Given the description of an element on the screen output the (x, y) to click on. 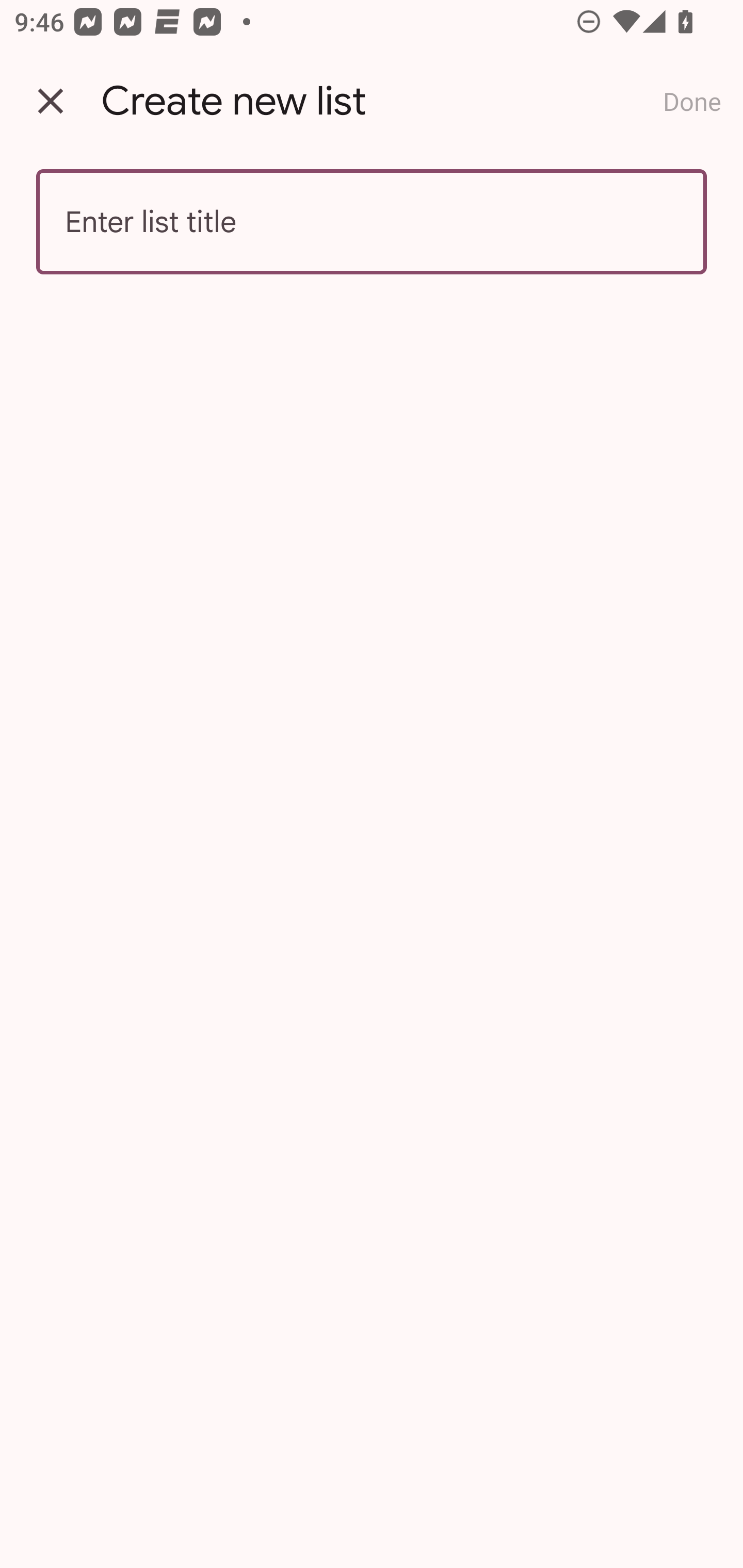
Back (50, 101)
Done (692, 101)
Enter list title (371, 221)
